Given the description of an element on the screen output the (x, y) to click on. 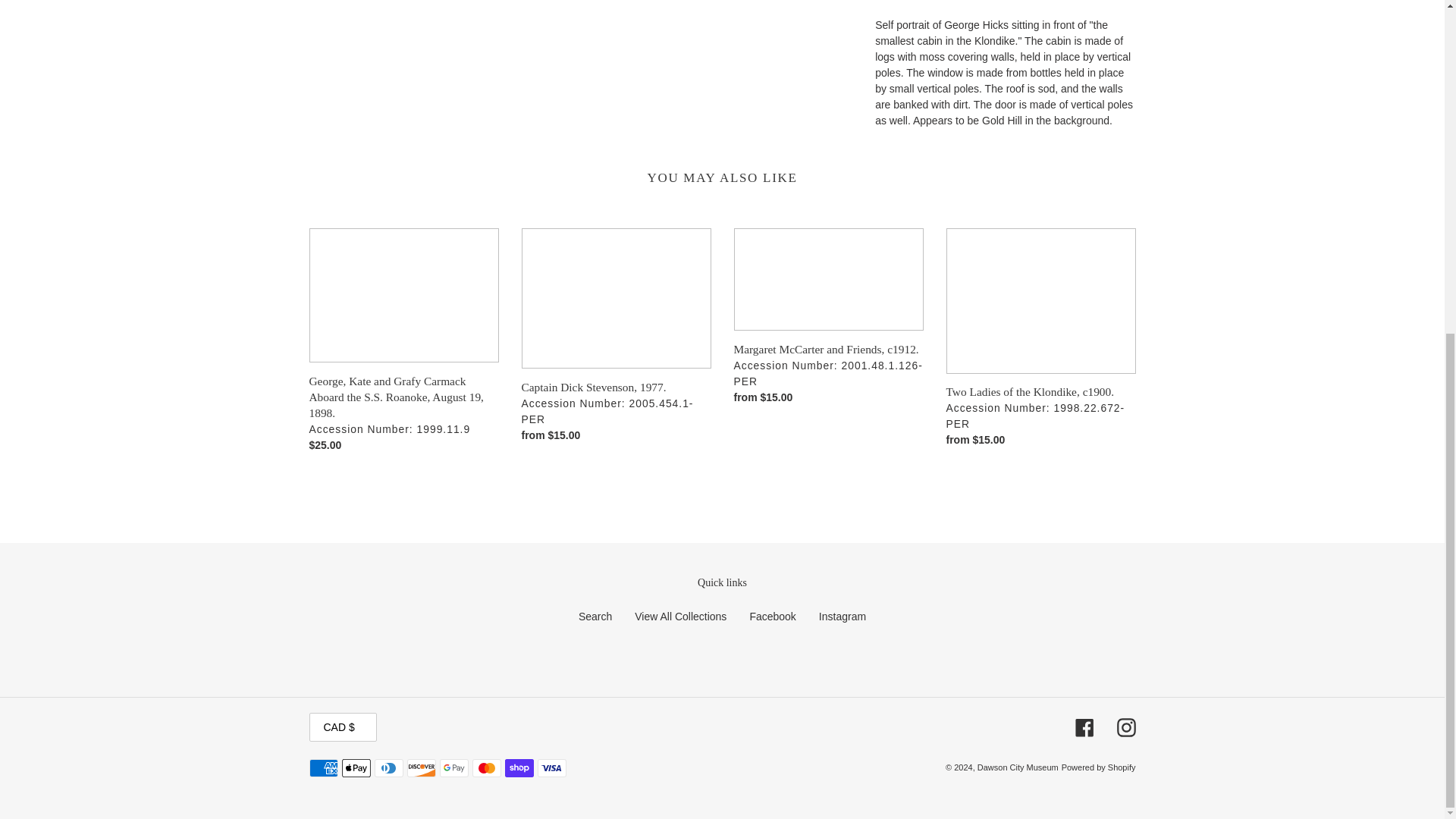
View All Collections (680, 616)
Search (594, 616)
Margaret McCarter and Friends, c1912. (828, 319)
Facebook (771, 616)
Instagram (842, 616)
